Given the description of an element on the screen output the (x, y) to click on. 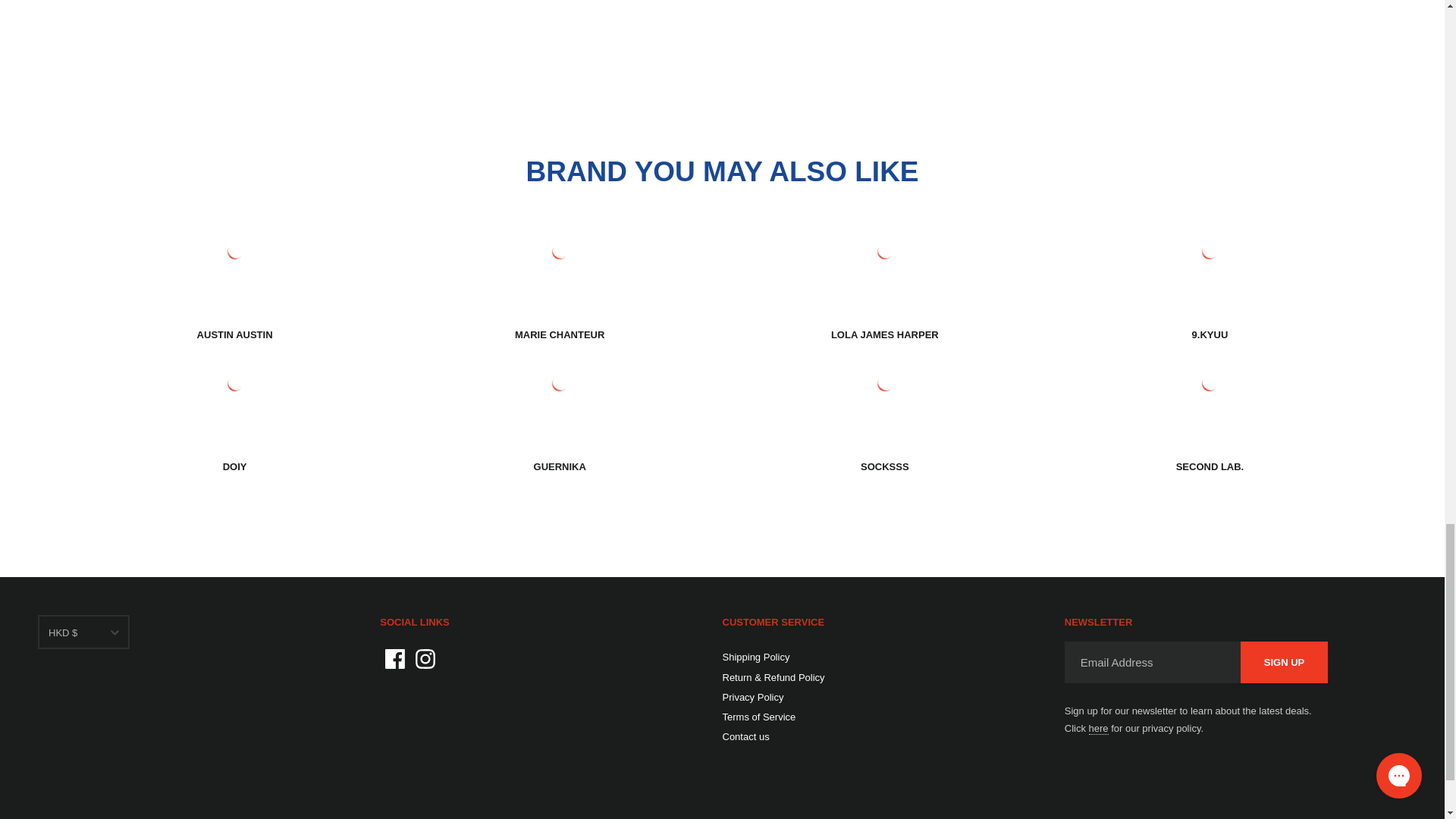
Sign up (1283, 662)
